Given the description of an element on the screen output the (x, y) to click on. 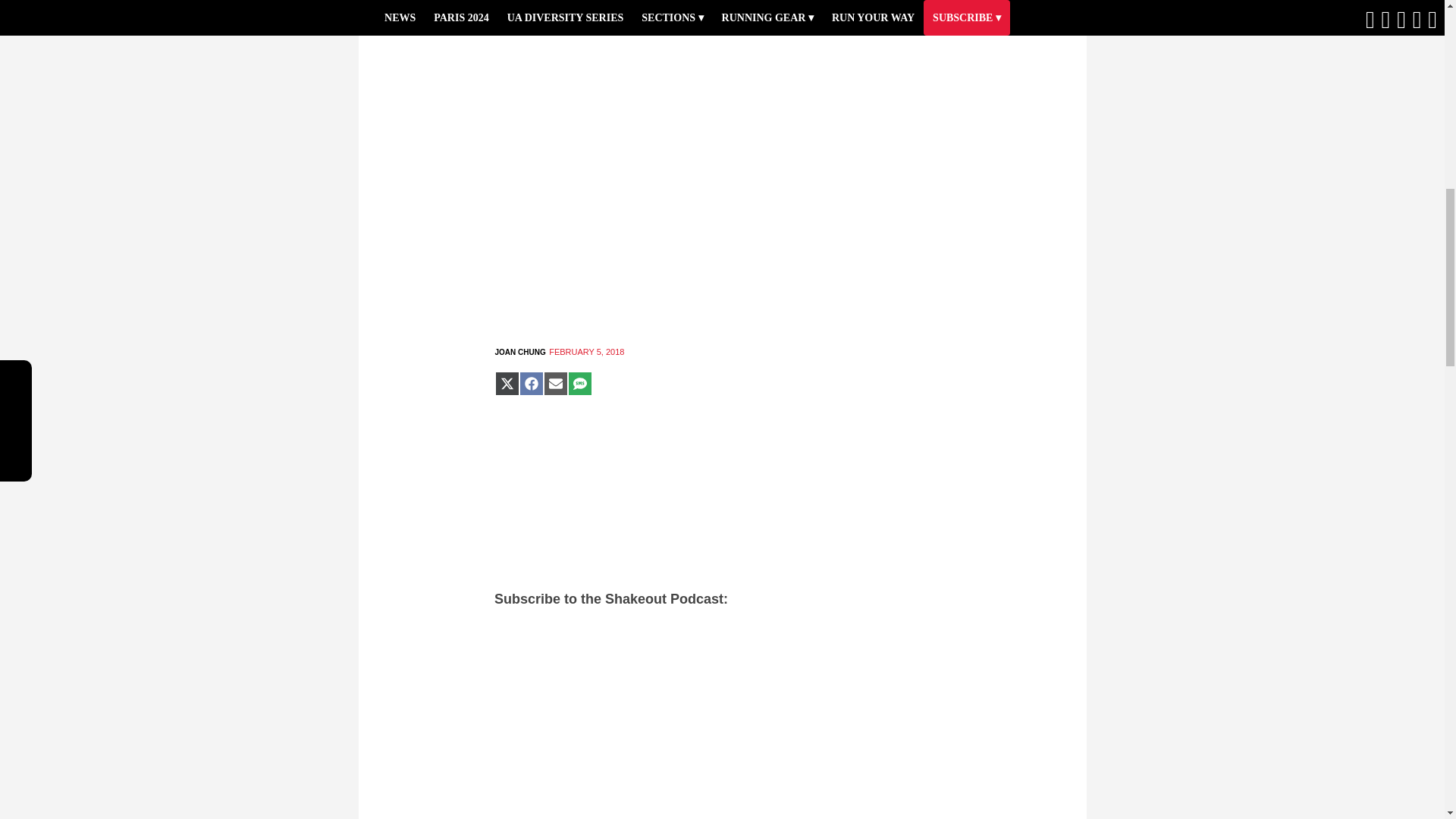
Share on Facebook (530, 383)
Share on SMS (579, 383)
Posts by Joan Chung (519, 352)
JOAN CHUNG (519, 352)
Share on Email (555, 383)
